Given the description of an element on the screen output the (x, y) to click on. 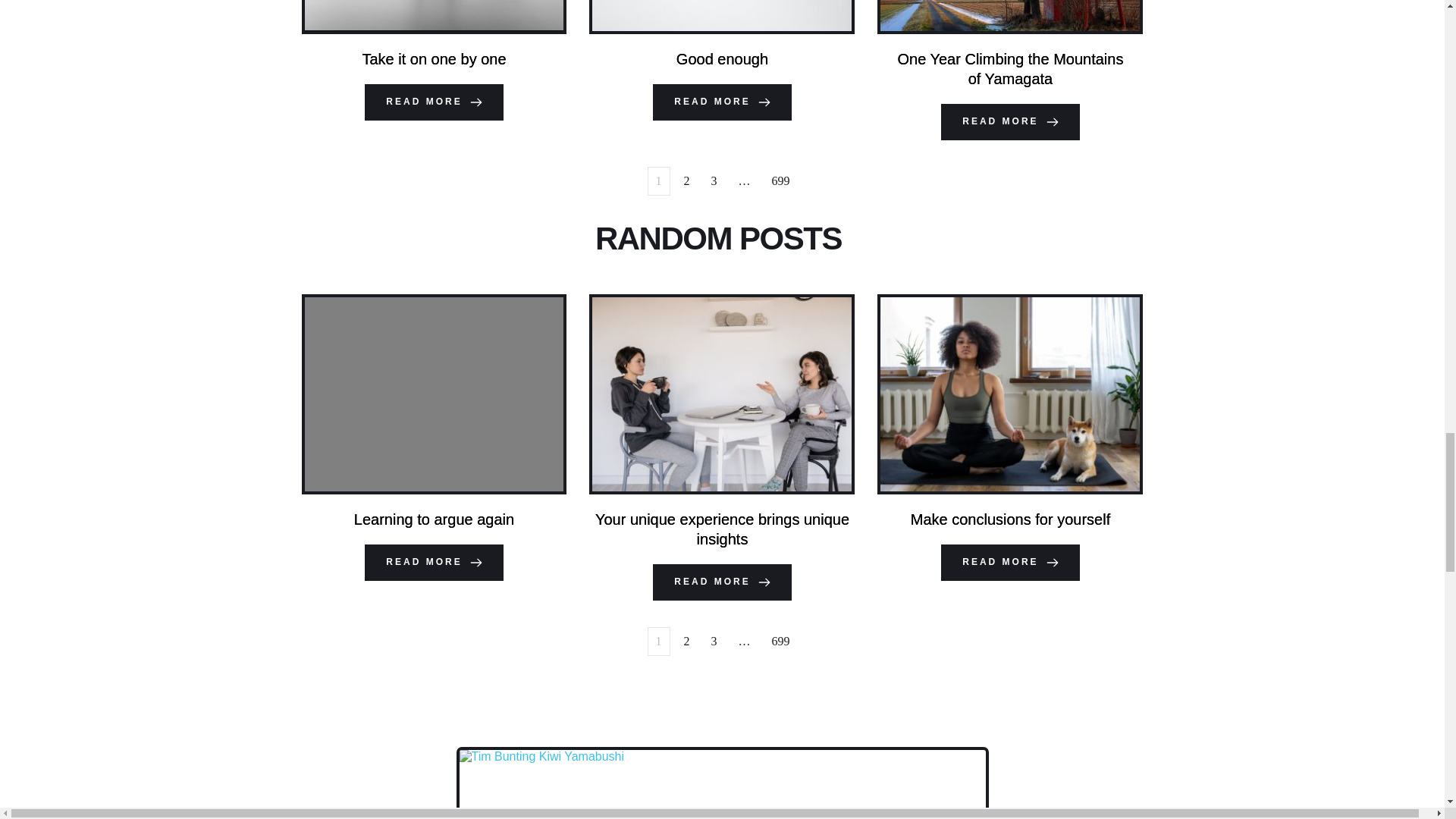
READ MORE (433, 562)
READ MORE (1009, 562)
READ MORE (1009, 122)
READ MORE (721, 582)
699 (780, 180)
READ MORE (721, 102)
READ MORE (433, 102)
